Given the description of an element on the screen output the (x, y) to click on. 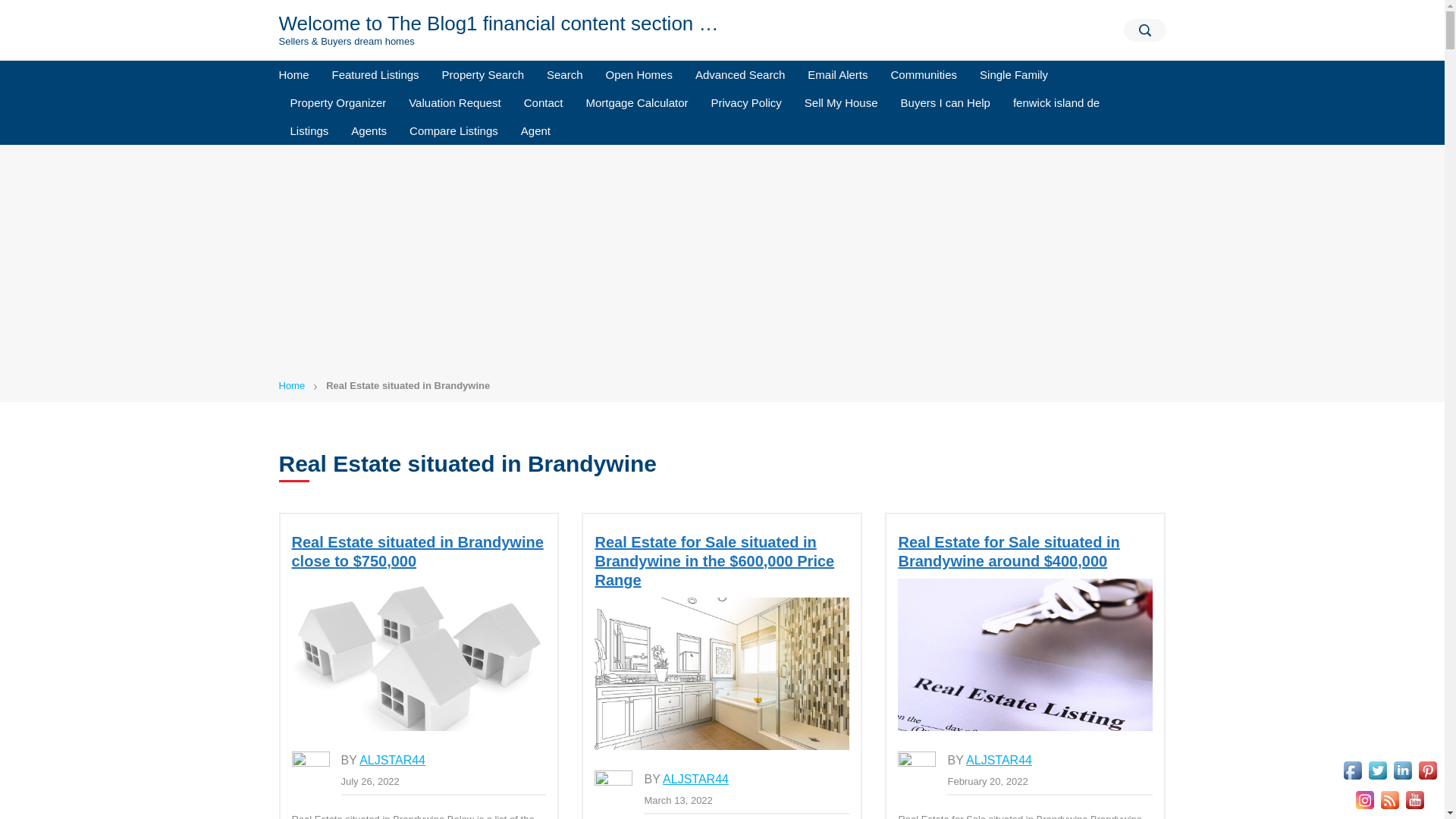
Contact (543, 102)
Communities (924, 74)
Property Search (482, 74)
Buyers I can Help (945, 102)
Email Alerts (837, 74)
Communities (924, 74)
Mortgage Calculator (635, 102)
Contact (543, 102)
Search (564, 74)
Valuation Request (454, 102)
Home (299, 74)
Home (299, 74)
Home (292, 385)
fenwick island de (1055, 102)
Compare Listings (453, 130)
